Given the description of an element on the screen output the (x, y) to click on. 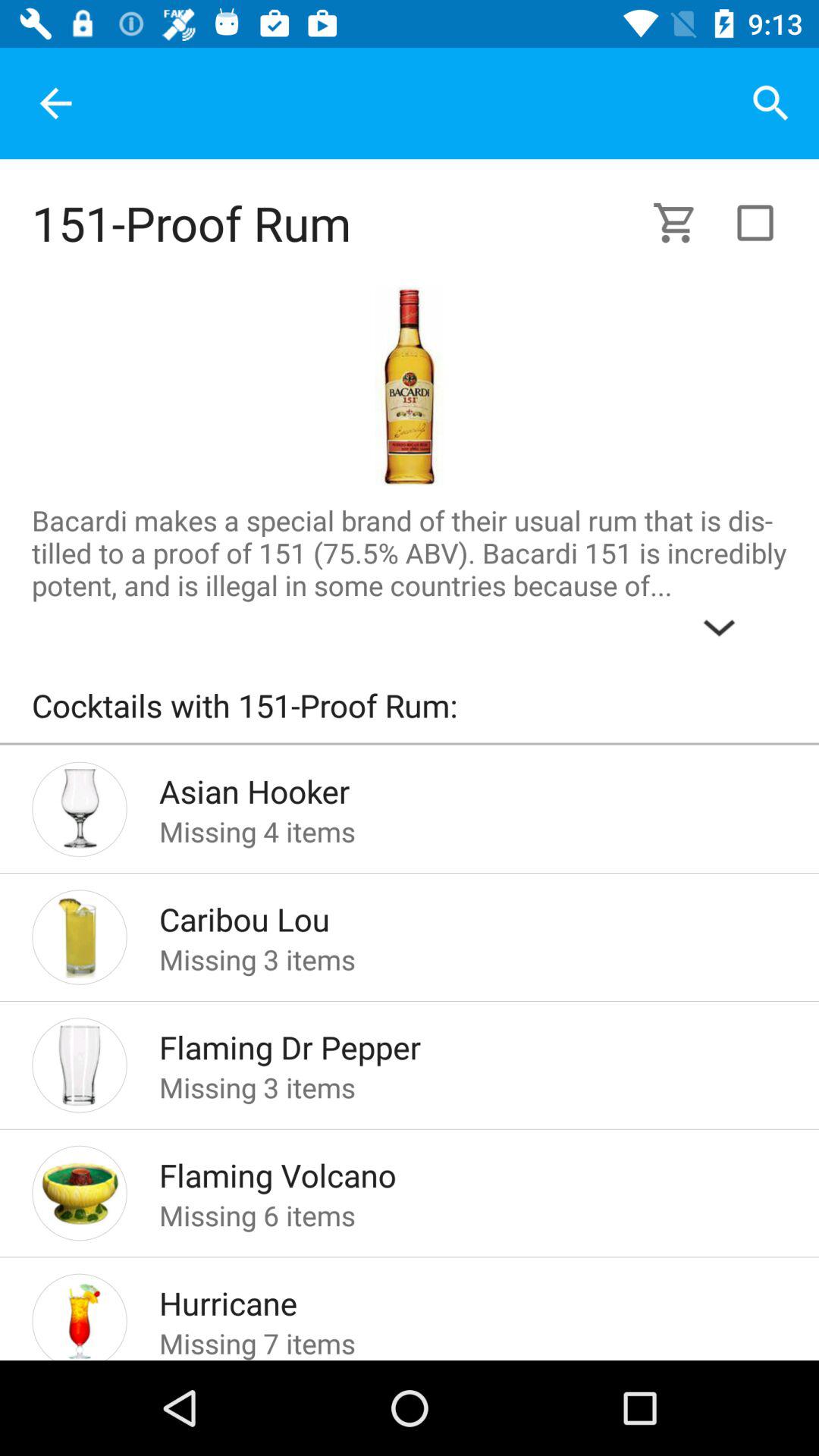
launch the item above 151-proof rum (55, 103)
